Given the description of an element on the screen output the (x, y) to click on. 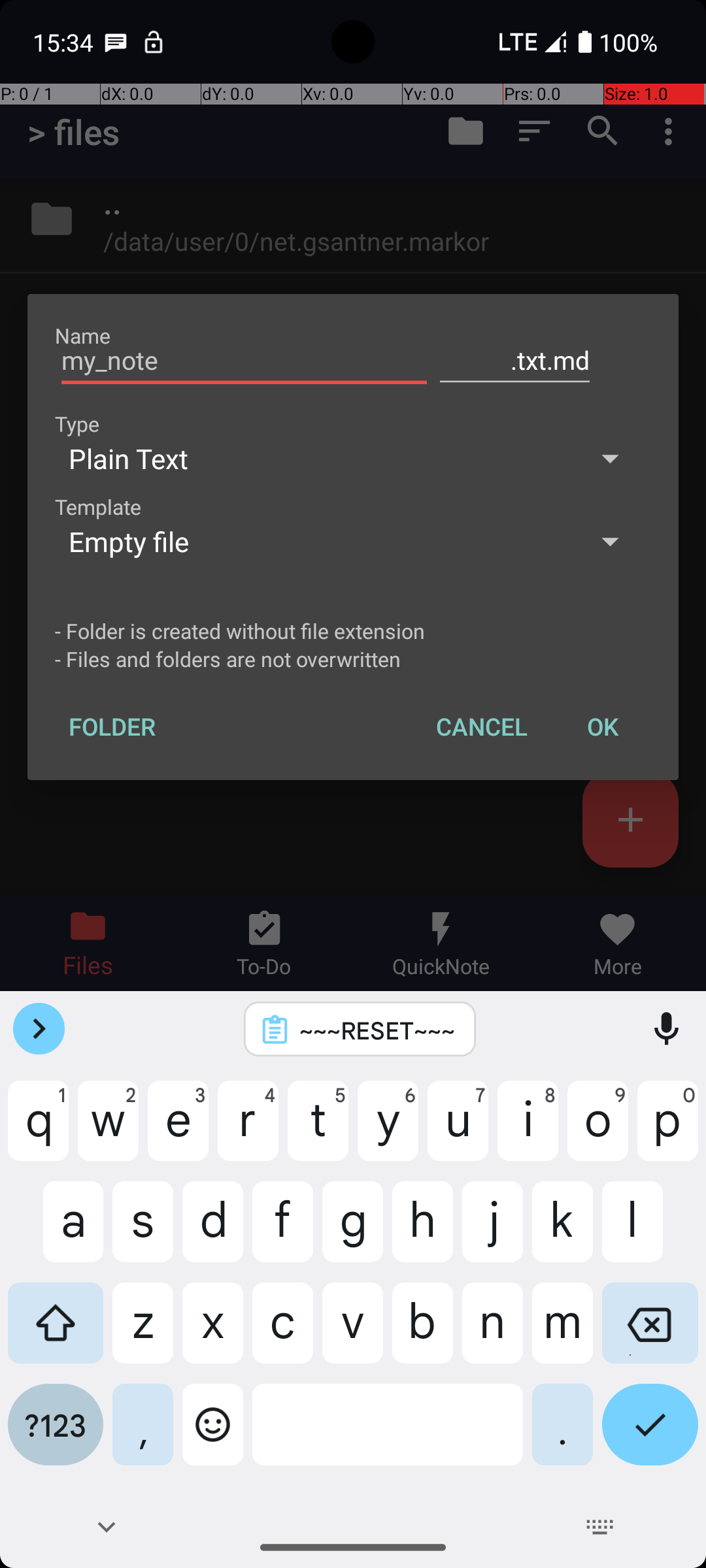
.txt.md Element type: android.widget.EditText (514, 360)
